Given the description of an element on the screen output the (x, y) to click on. 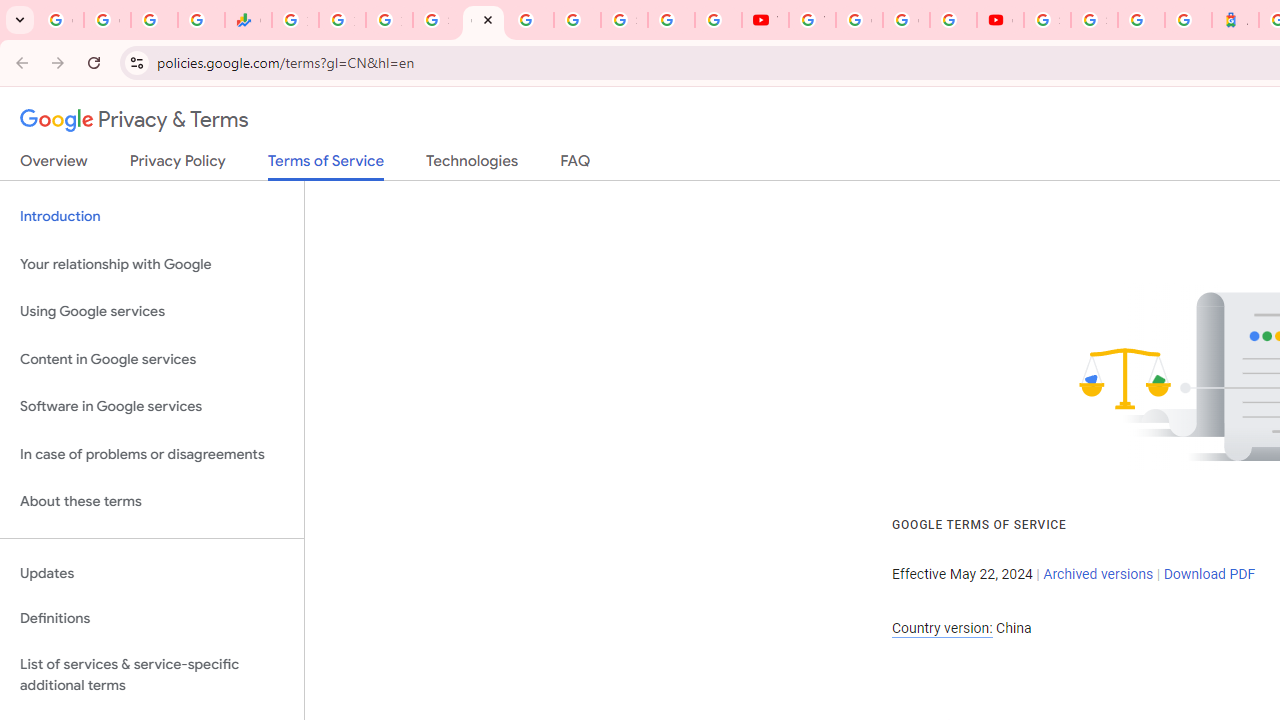
About these terms (152, 502)
Using Google services (152, 312)
Country version: (942, 628)
Content in Google services (152, 358)
Atour Hotel - Google hotels (1235, 20)
YouTube (811, 20)
Download PDF (1209, 574)
In case of problems or disagreements (152, 453)
